Given the description of an element on the screen output the (x, y) to click on. 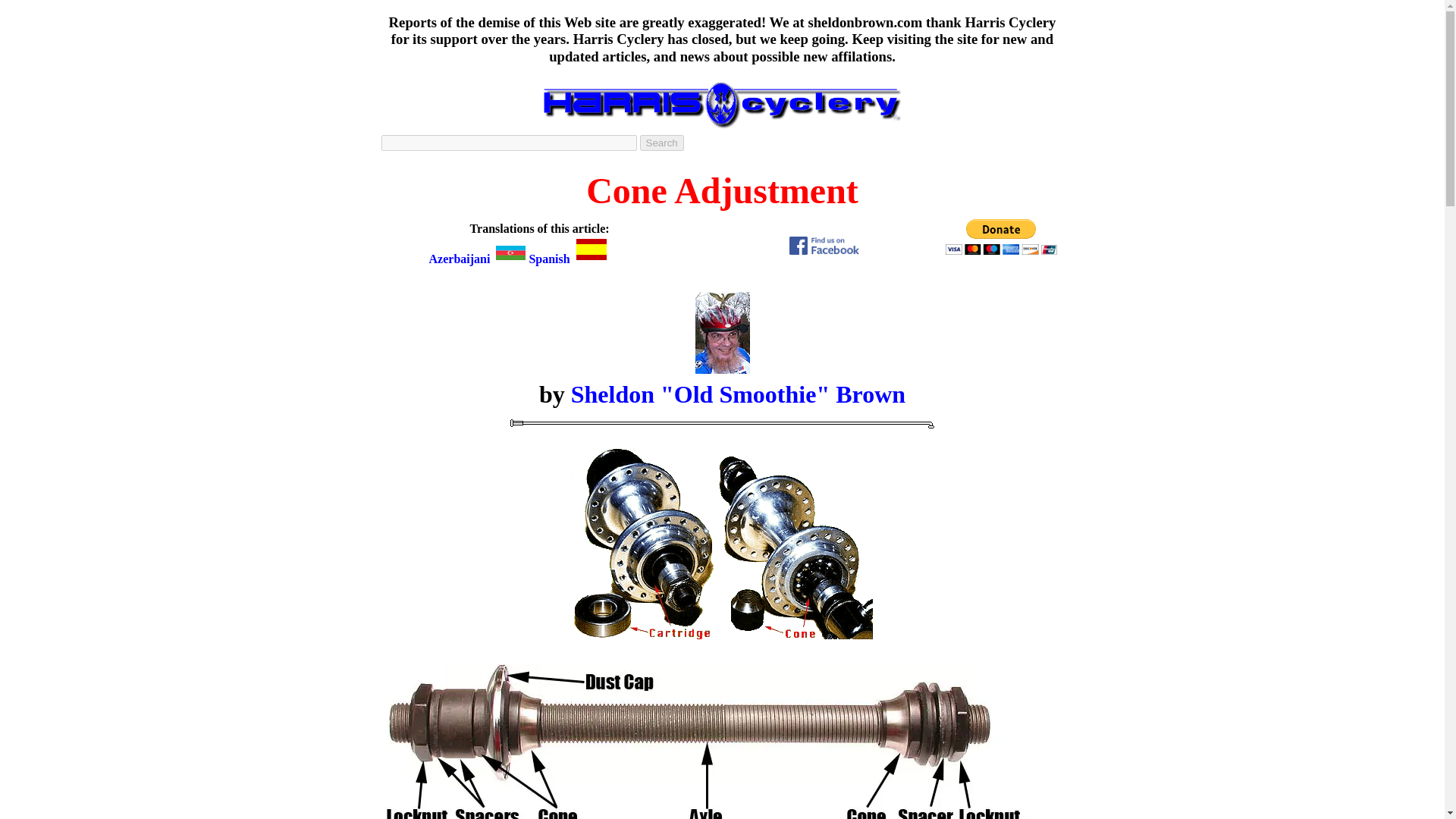
Spanish (568, 258)
Azerbaijani (479, 258)
